Given the description of an element on the screen output the (x, y) to click on. 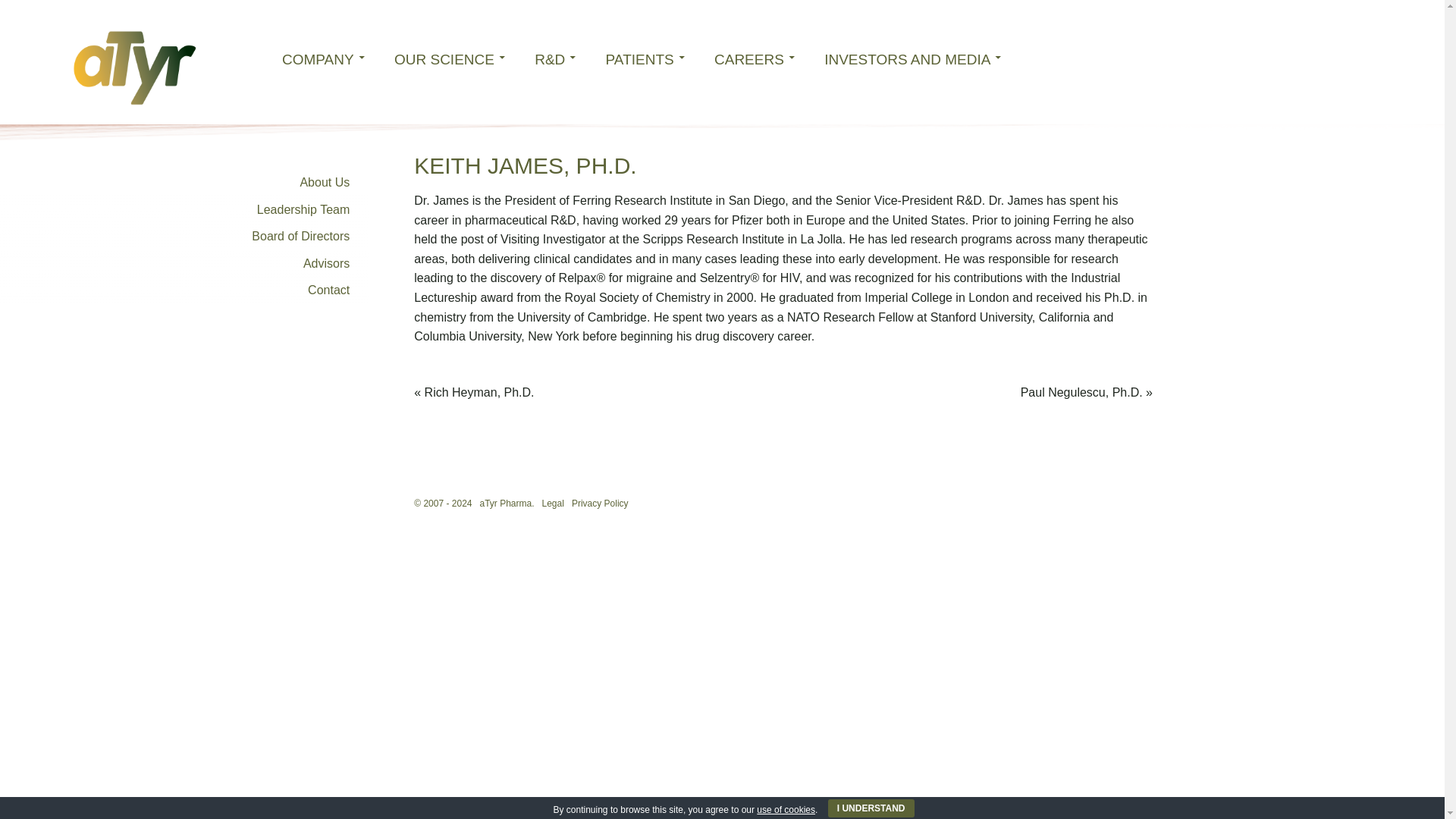
COMPANY (323, 58)
SKIP TO CONTENT (276, 46)
Atyr Pharma (134, 67)
PATIENTS (645, 58)
OUR SCIENCE (449, 58)
INVESTORS AND MEDIA (912, 58)
CAREERS (753, 58)
